Given the description of an element on the screen output the (x, y) to click on. 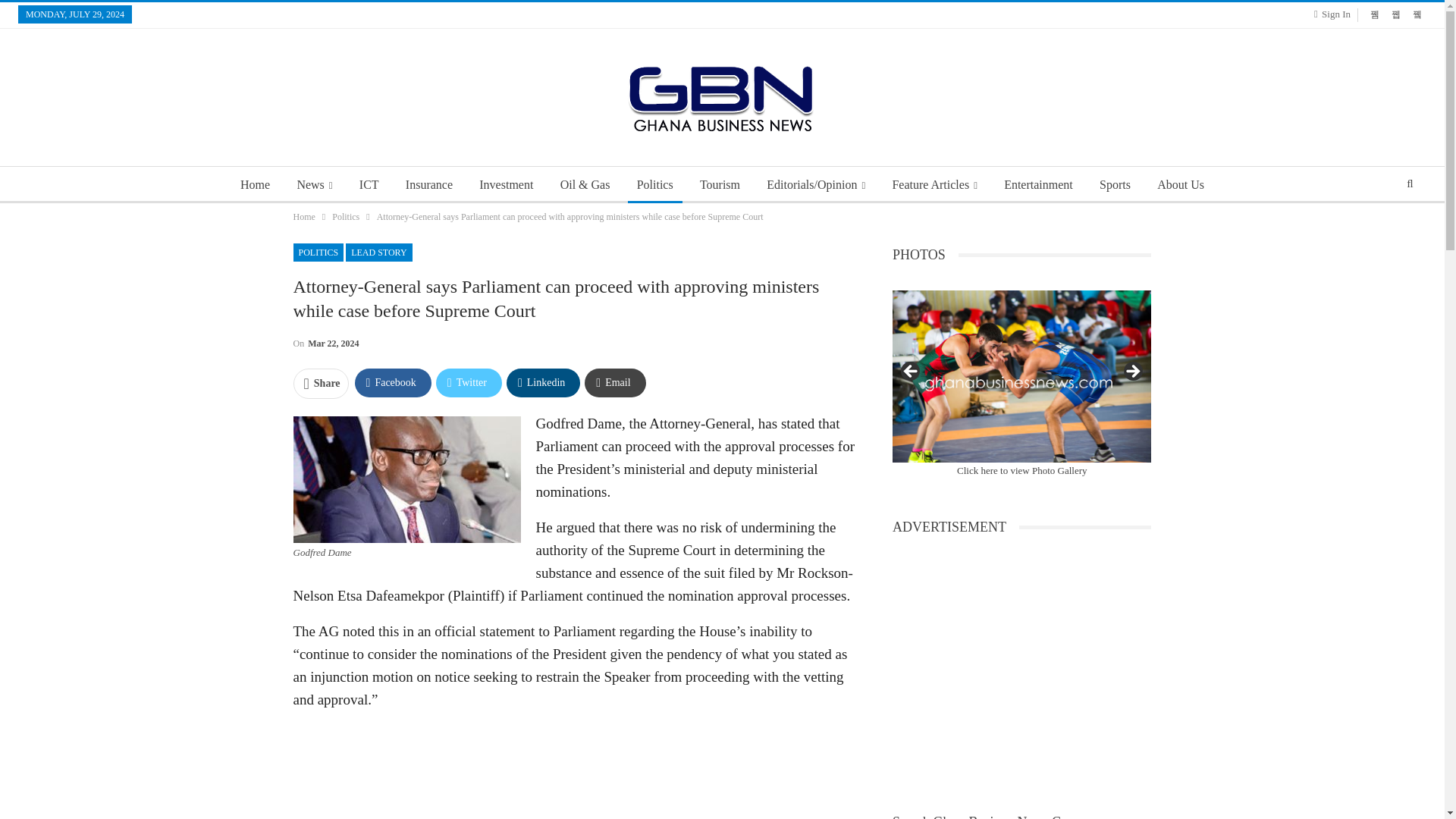
Politics (654, 185)
Tourism (719, 185)
Insurance (428, 185)
Entertainment (1037, 185)
Advertisement (574, 771)
Email (615, 382)
Sports (1115, 185)
Investment (505, 185)
LEAD STORY (379, 252)
News (313, 185)
ICT (369, 185)
About Us (1180, 185)
Linkedin (542, 382)
Home (303, 216)
Twitter (468, 382)
